Given the description of an element on the screen output the (x, y) to click on. 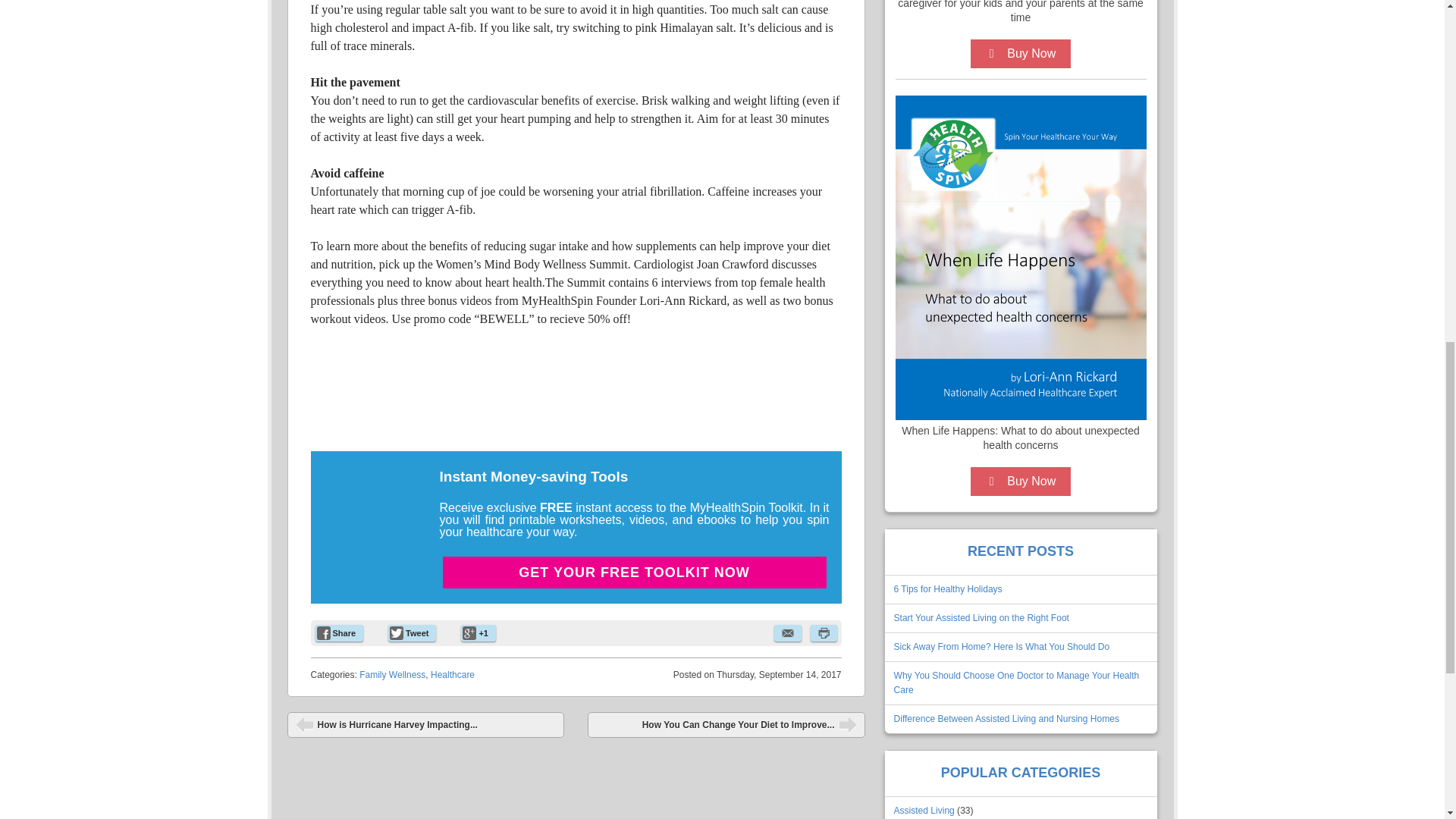
Send My Toolkit (634, 728)
Start Your Assisted Living on the Right Foot (980, 617)
How You Can Change Your Diet to Improve... (726, 724)
Family Wellness (392, 674)
Tweet this Post (411, 632)
How is Hurricane Harvey Impacting... (425, 724)
Buy Now (1020, 481)
6 Tips for Healthy Holidays (948, 588)
Healthcare (452, 674)
Share on Facebook (339, 632)
print (822, 632)
Share (339, 632)
Buy Now (1020, 53)
Tweet (411, 632)
email (786, 632)
